Given the description of an element on the screen output the (x, y) to click on. 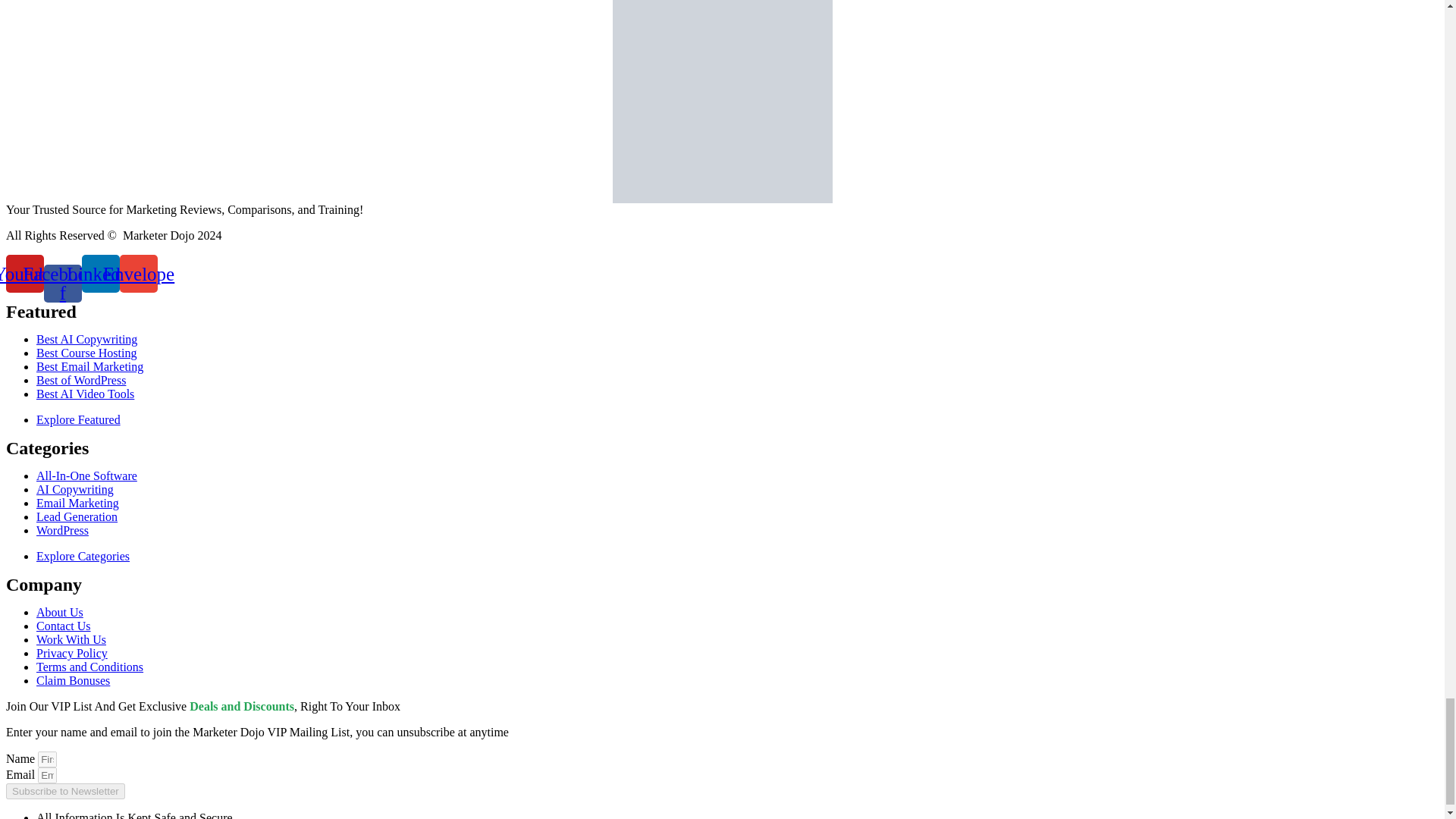
Best AI Copywriting (86, 338)
Lead Generation (76, 516)
WordPress (62, 530)
Linkedin (100, 273)
Email Marketing (77, 502)
Best Email Marketing (89, 366)
Explore Featured (78, 419)
Youtube (24, 273)
Facebook-f (62, 283)
Best of WordPress (80, 379)
Explore Categories (82, 555)
Best Course Hosting (86, 352)
Best AI Video Tools (84, 393)
AI Copywriting (74, 489)
All-In-One Software (86, 475)
